Given the description of an element on the screen output the (x, y) to click on. 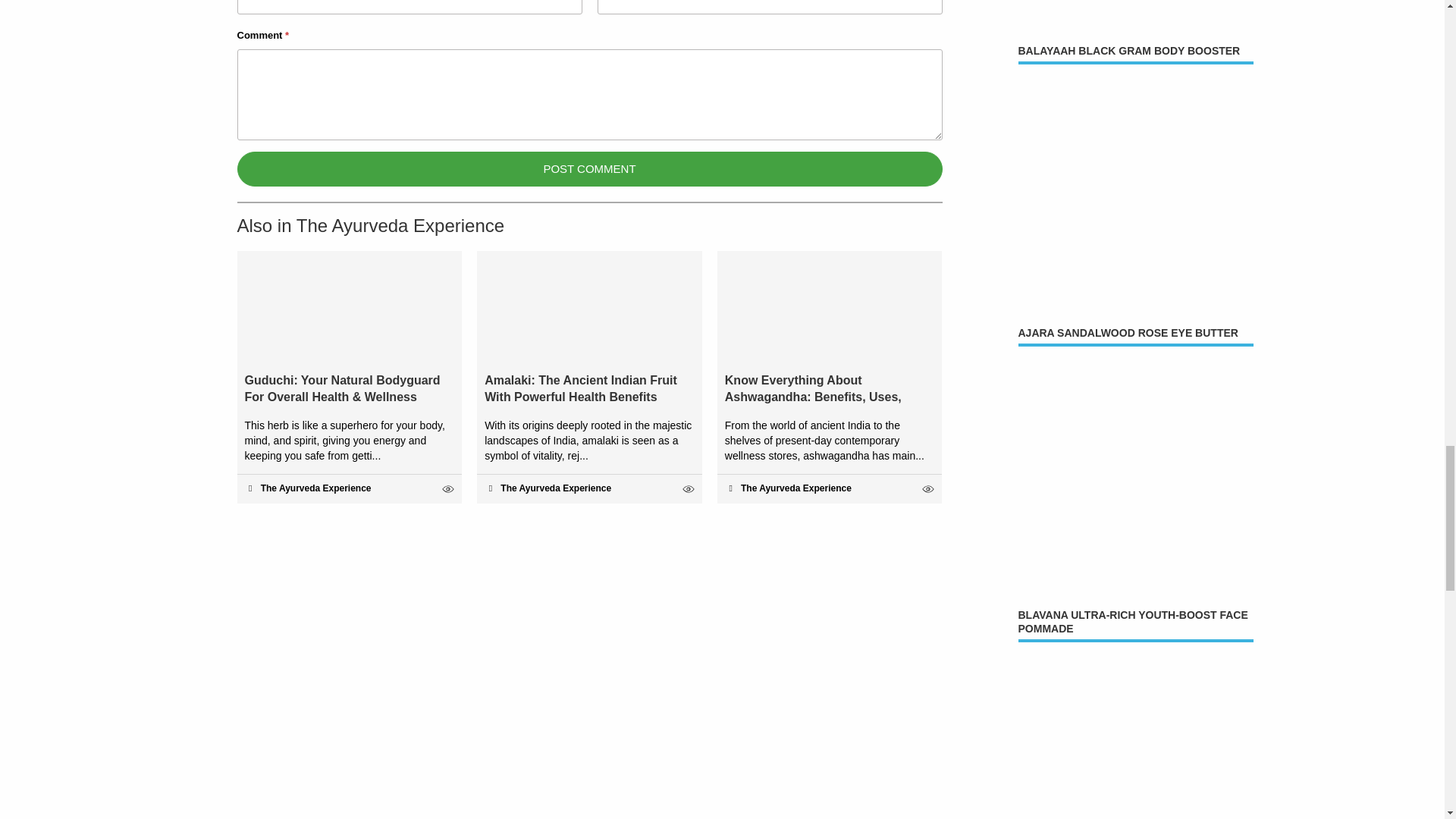
Post comment (588, 168)
